Given the description of an element on the screen output the (x, y) to click on. 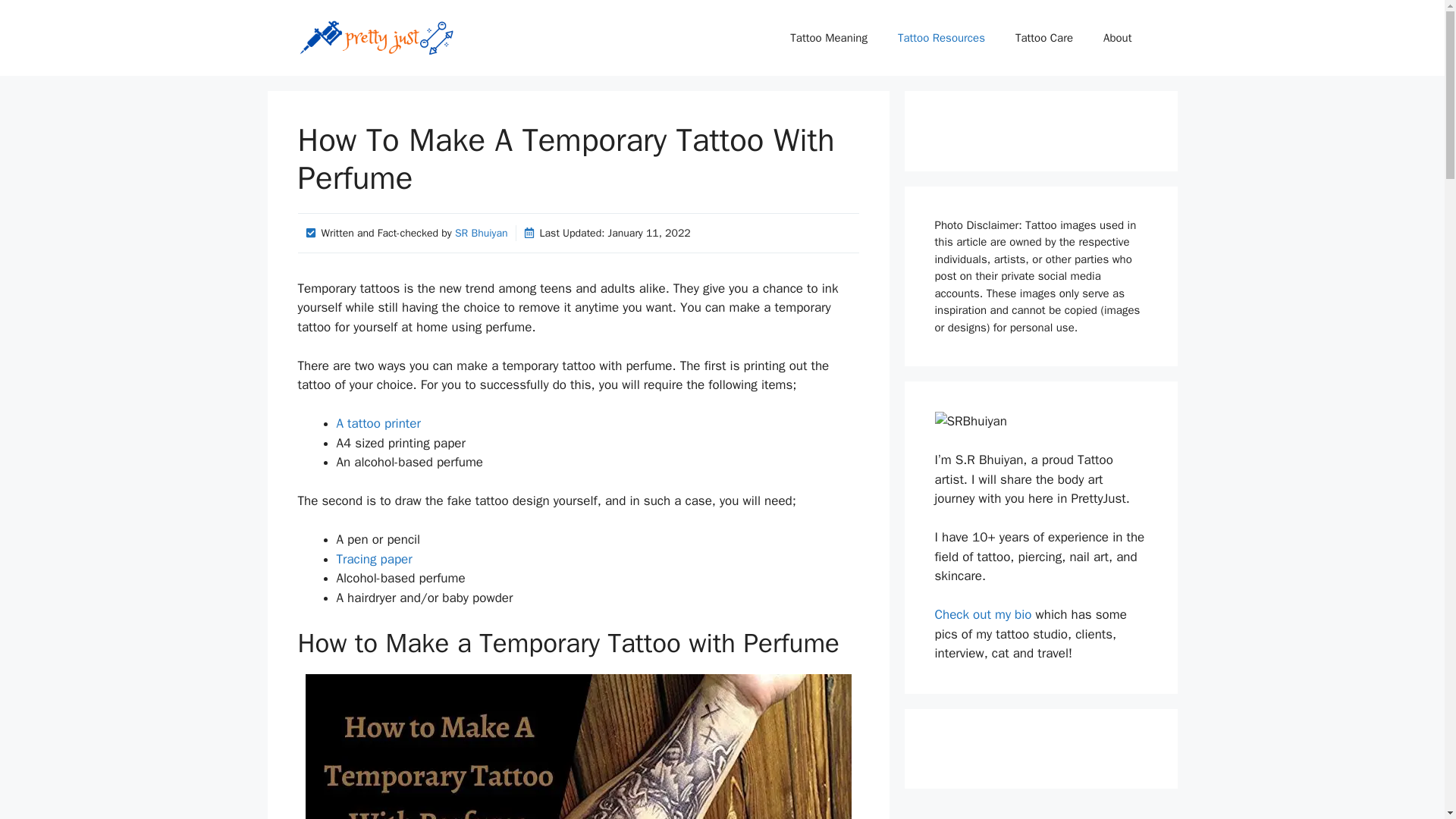
Check out my bio (982, 614)
Tattoo Resources (941, 37)
Tracing paper (374, 559)
Tattoo Meaning (828, 37)
About (1117, 37)
Tattoo Care (1043, 37)
SR Bhuiyan (481, 232)
A tattoo printer (378, 423)
